Given the description of an element on the screen output the (x, y) to click on. 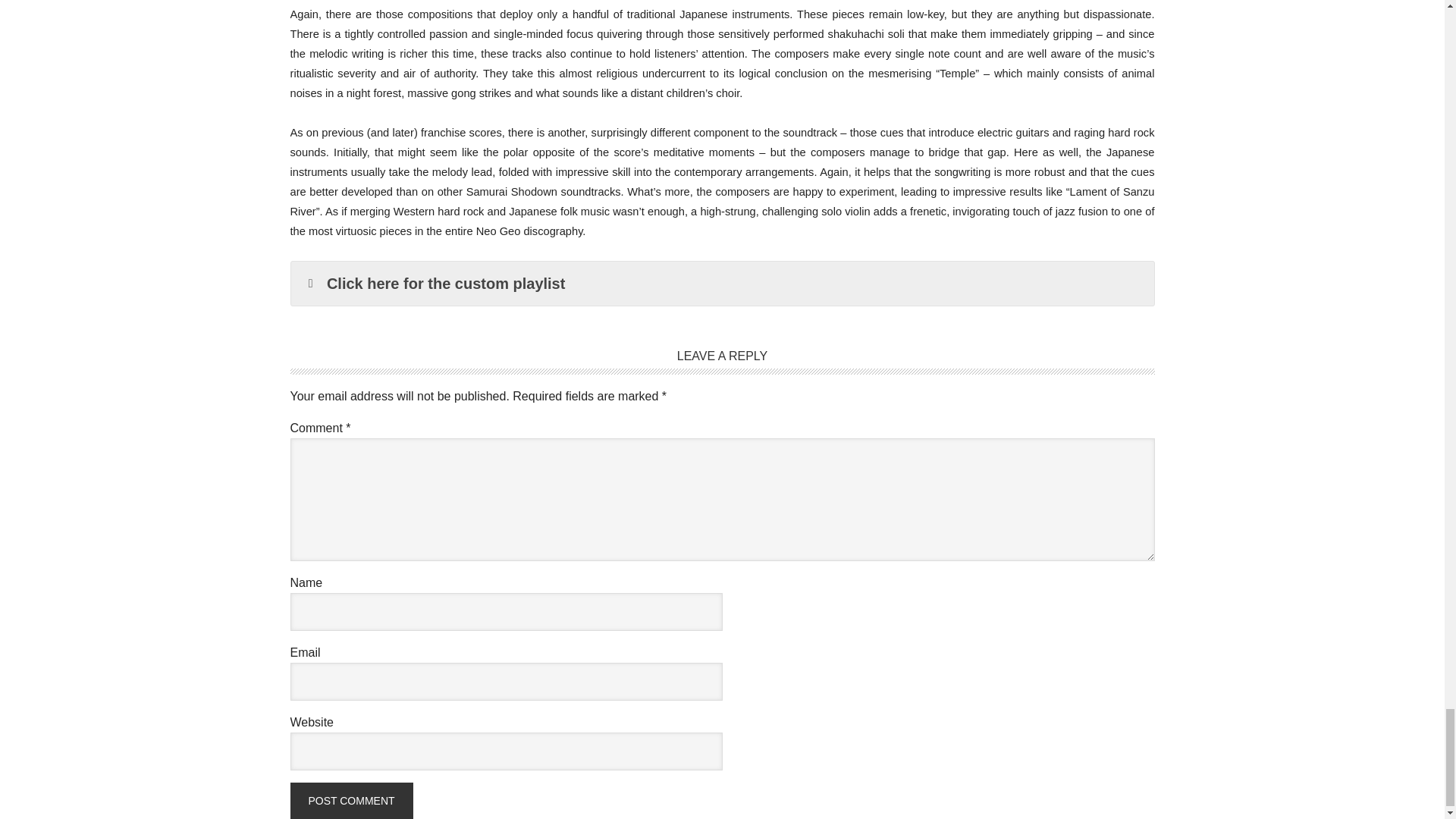
Click here for the custom playlist (722, 283)
